Given the description of an element on the screen output the (x, y) to click on. 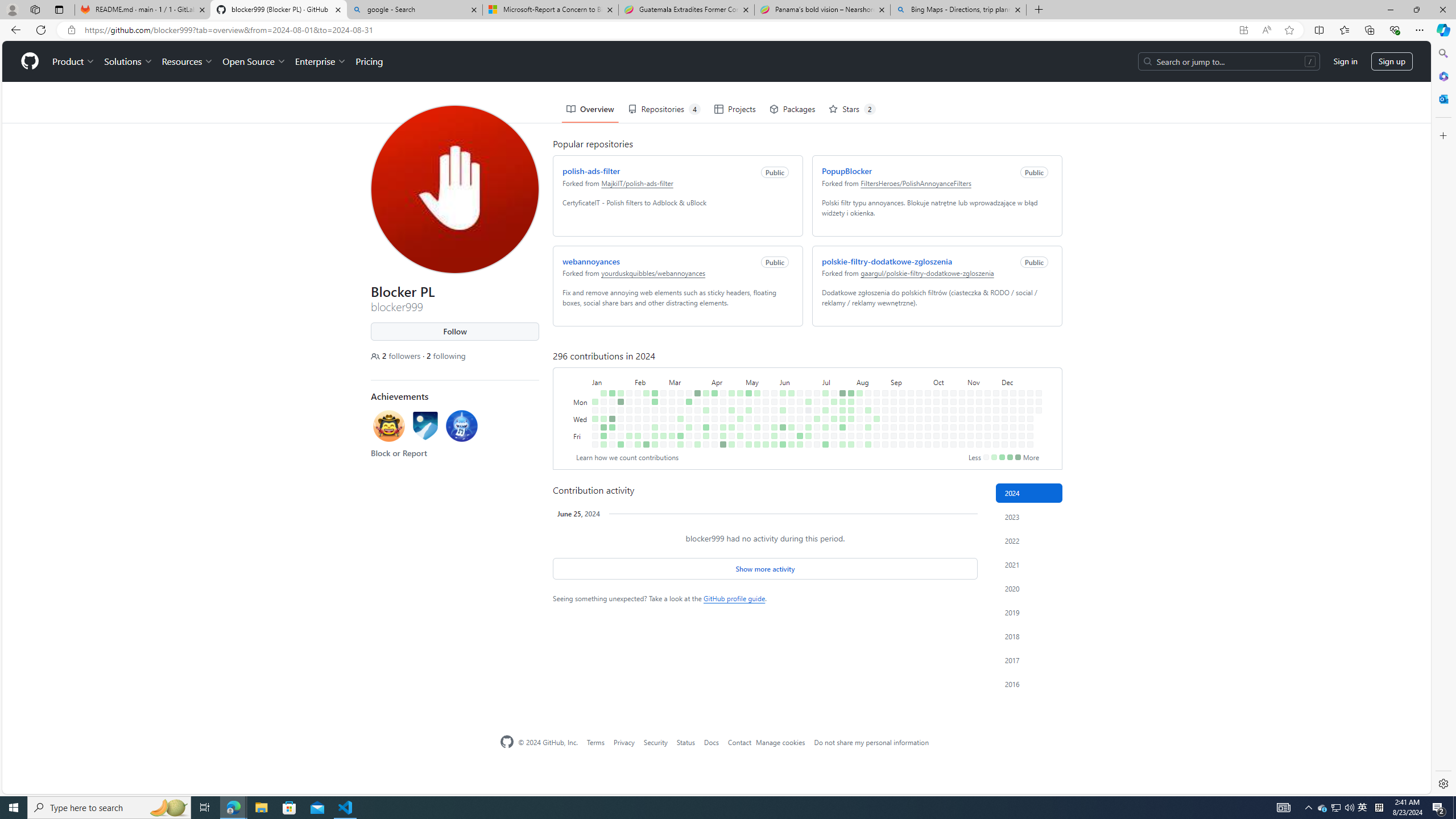
No contributions on November 25th. (993, 360)
No contributions on April 6th. (706, 444)
1 contribution on August 15th. (866, 386)
No contributions on June 19th. (797, 377)
Saturday (581, 444)
View blocker999's full-sized avatar (452, 147)
No contributions on November 4th. (968, 360)
No contributions on August 11th. (866, 351)
No contributions on September 20th. (908, 394)
No contributions on December 22nd. (1027, 351)
No contributions on January 19th. (609, 394)
No contributions on December 10th. (1010, 369)
No contributions on January 2nd. (592, 369)
